Given the description of an element on the screen output the (x, y) to click on. 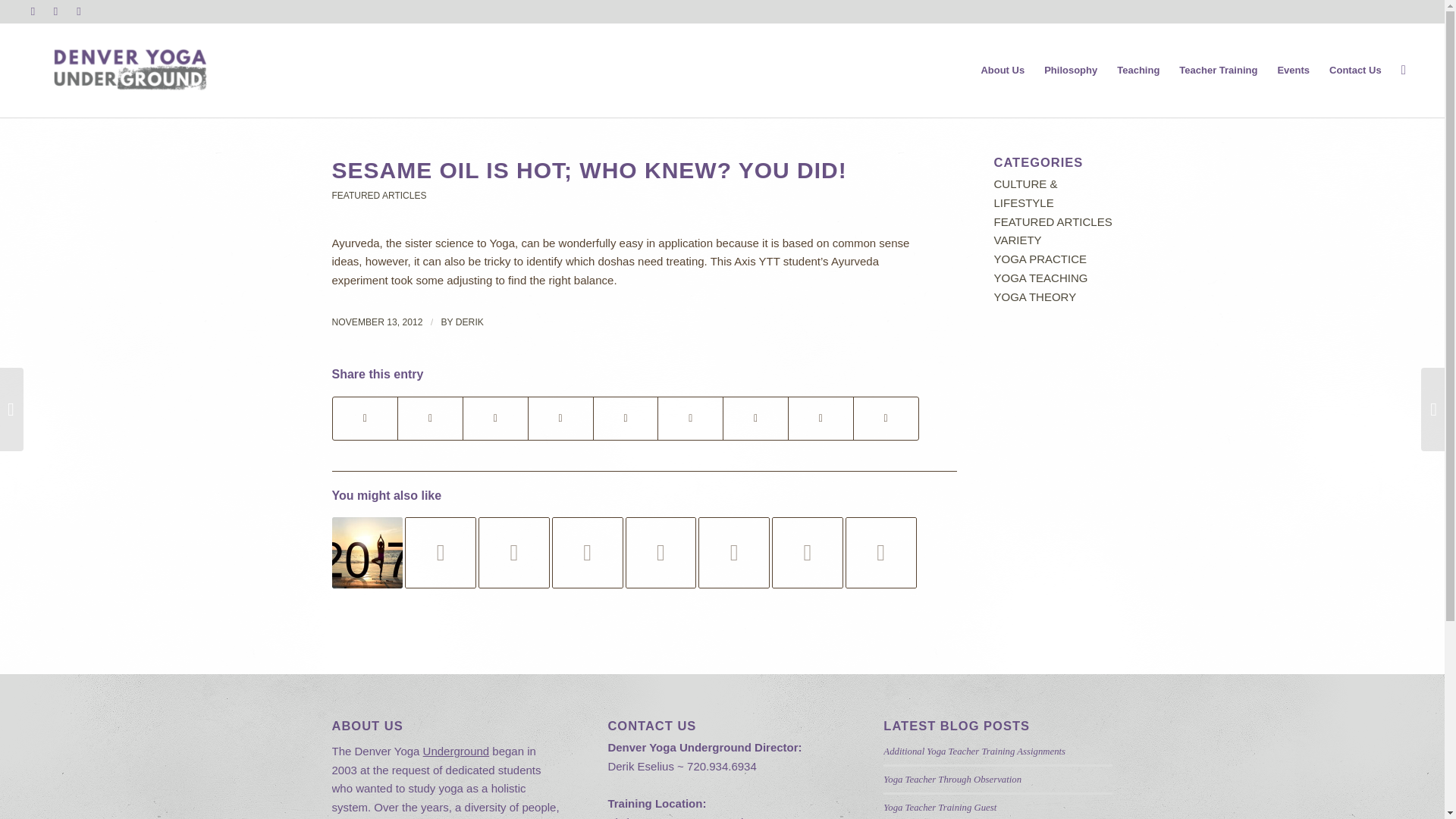
About Us (1002, 69)
Instagram (55, 11)
Teacher Training (1217, 69)
Posts by derik (469, 321)
Philosophy (1069, 69)
FEATURED ARTICLES (378, 195)
DERIK (469, 321)
Teaching (1137, 69)
Events (1292, 69)
Youtube (78, 11)
Facebook (32, 11)
Contact Us (1355, 69)
Yoga Resolution 3: Make Meditation A Priority (367, 552)
